Given the description of an element on the screen output the (x, y) to click on. 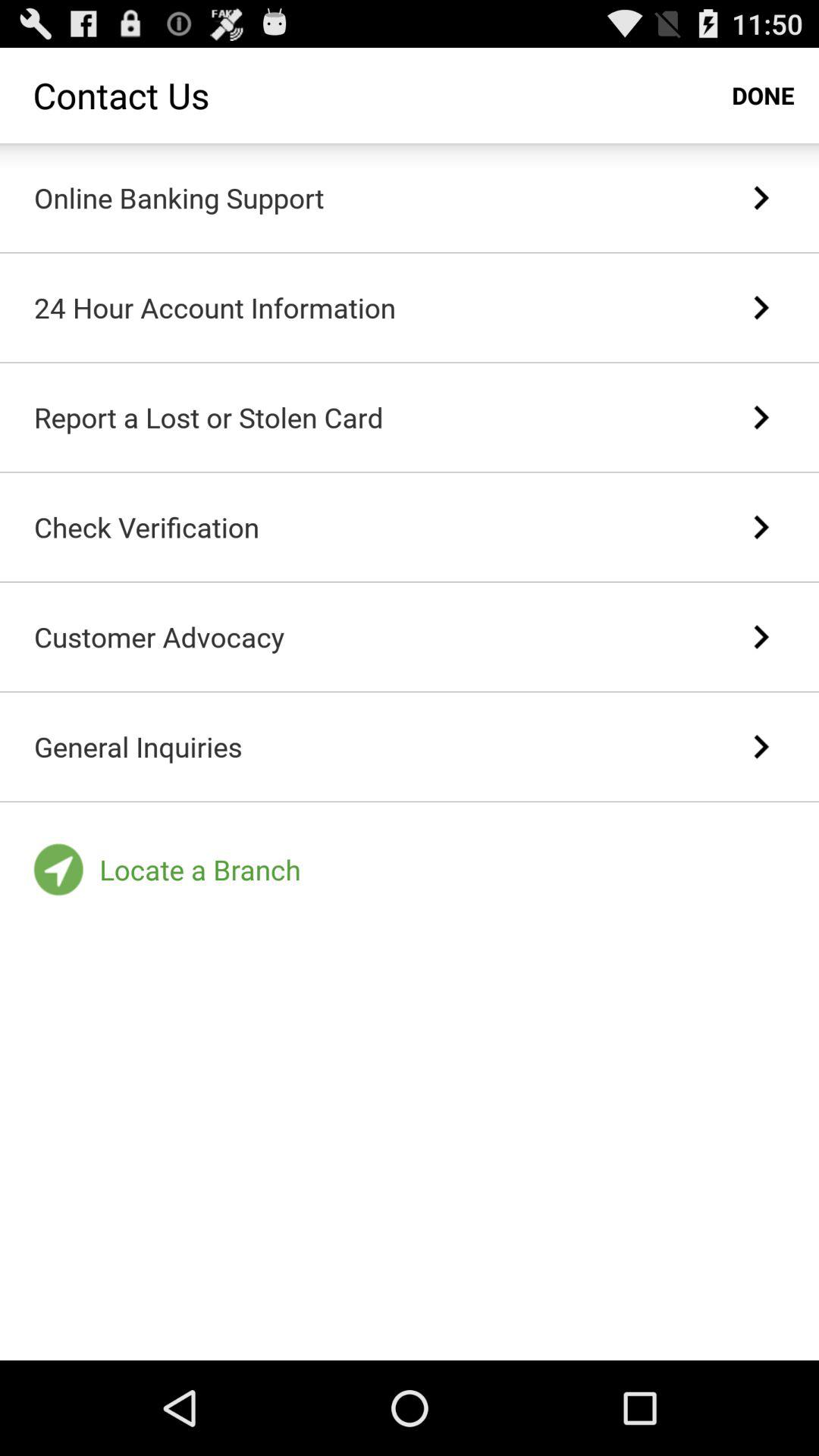
launch online banking support (179, 197)
